Given the description of an element on the screen output the (x, y) to click on. 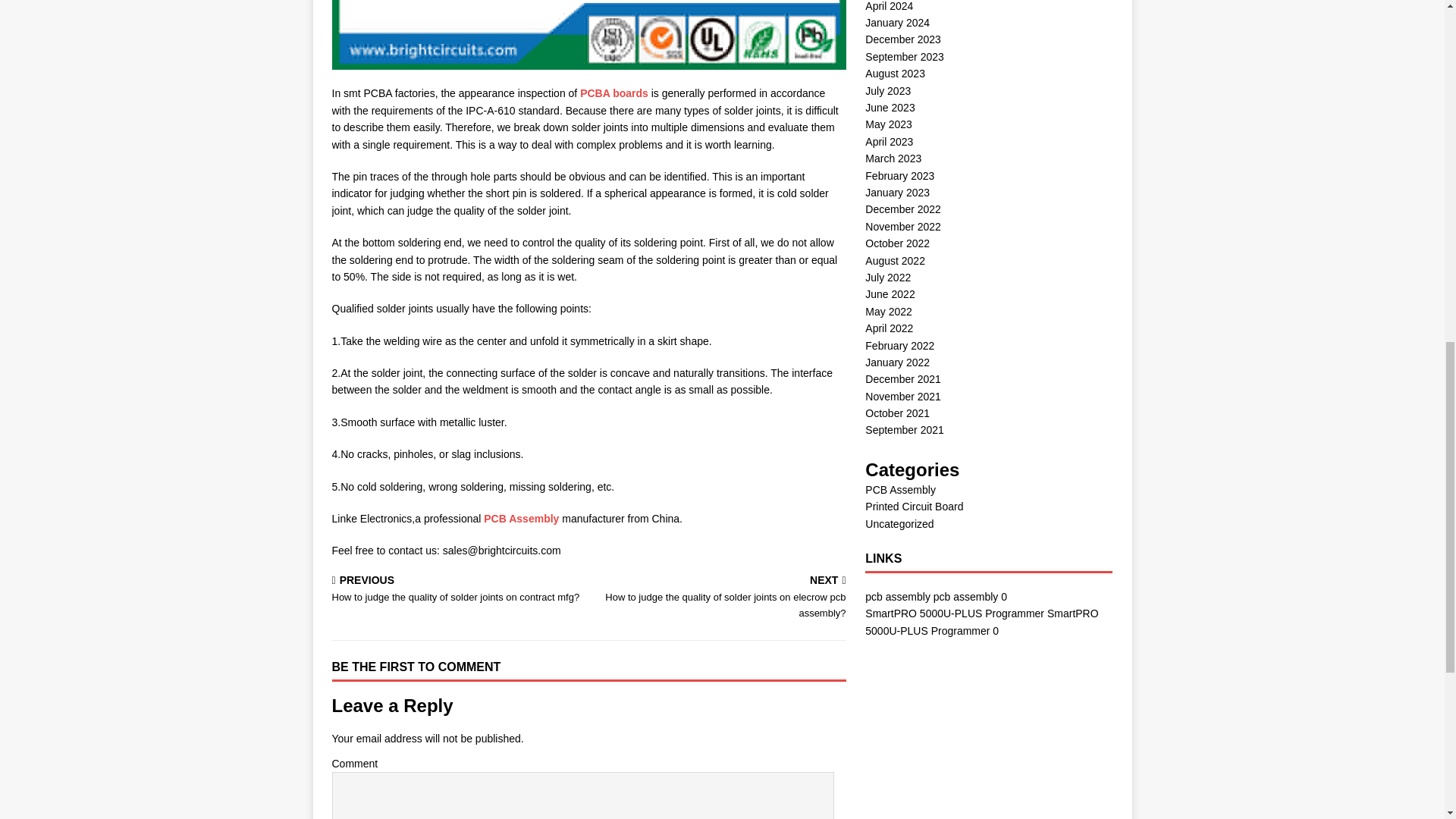
pcb assembly (897, 596)
PCB Assembly (521, 518)
Custom PCBA boards (613, 92)
SmartPRO 5000U-PLUS Programmer (953, 613)
Professional PCB Assembly service (521, 518)
PCBA boards (613, 92)
